Given the description of an element on the screen output the (x, y) to click on. 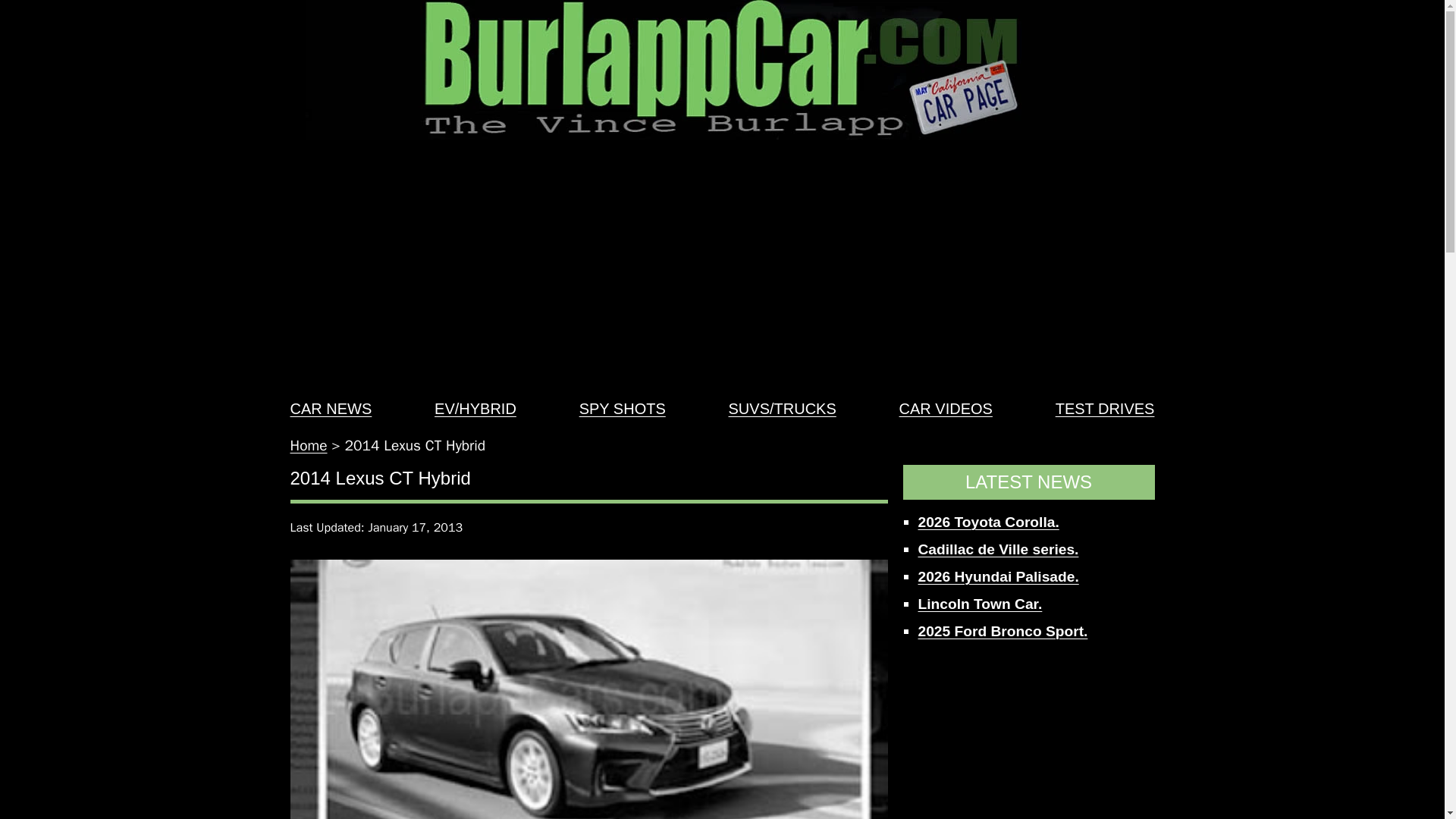
CAR NEWS (330, 408)
Cadillac de Ville series. (997, 549)
2025 Ford Bronco Sport. (1002, 631)
Cadillac de Ville series. (997, 549)
CAR VIDEOS (945, 408)
2026 Hyundai Palisade. (997, 576)
Lincoln Town Car. (979, 603)
Advertisement (1028, 739)
2025 Ford Bronco Sport. (1002, 631)
Lincoln Town Car. (979, 603)
